Given the description of an element on the screen output the (x, y) to click on. 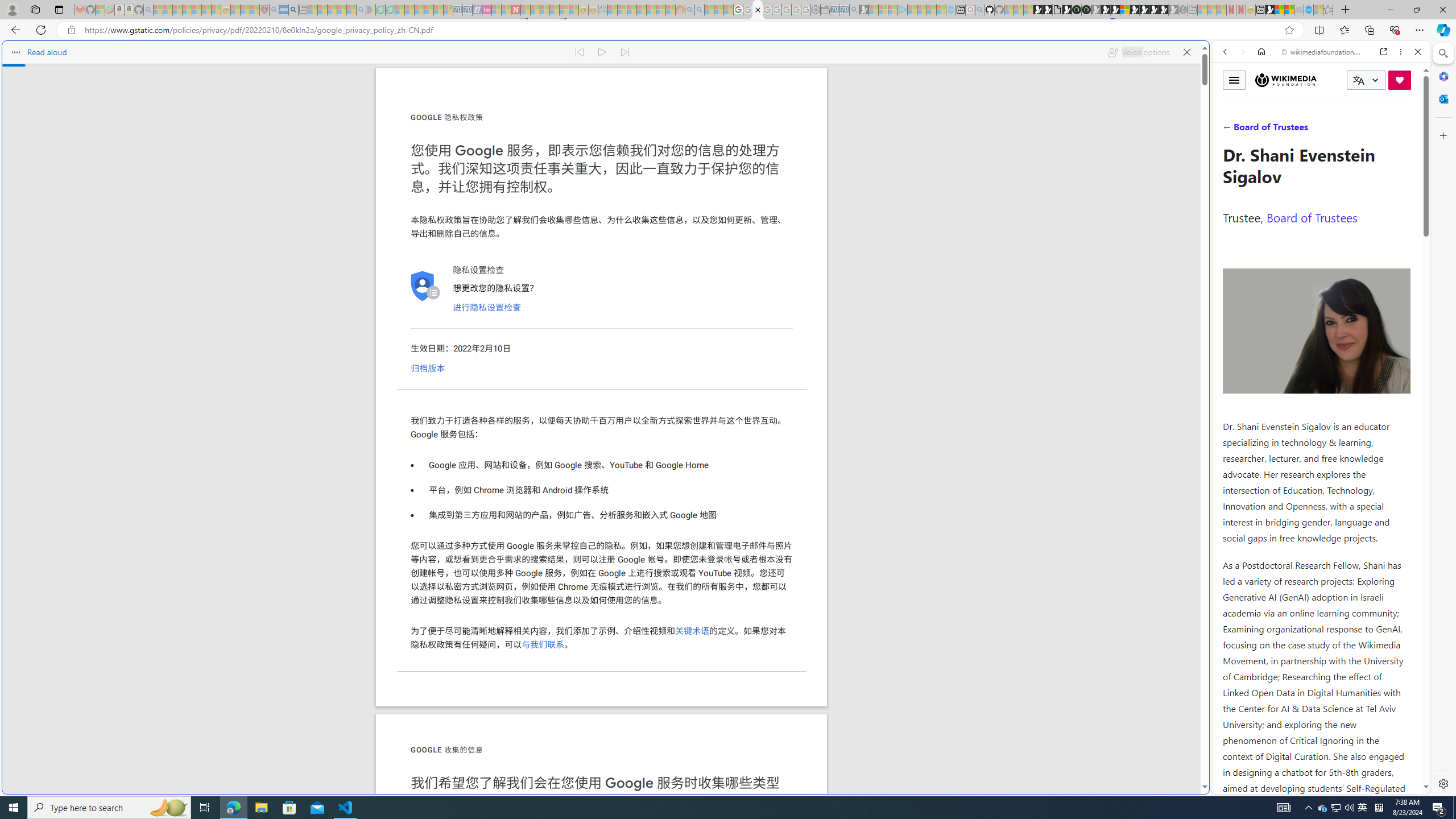
SEARCH TOOLS (1350, 130)
Minimize (1390, 9)
Search the web (1326, 78)
Local - MSN - Sleeping (254, 9)
Address and search bar (681, 29)
Toggle menu (1233, 80)
World - MSN (727, 389)
